Given the description of an element on the screen output the (x, y) to click on. 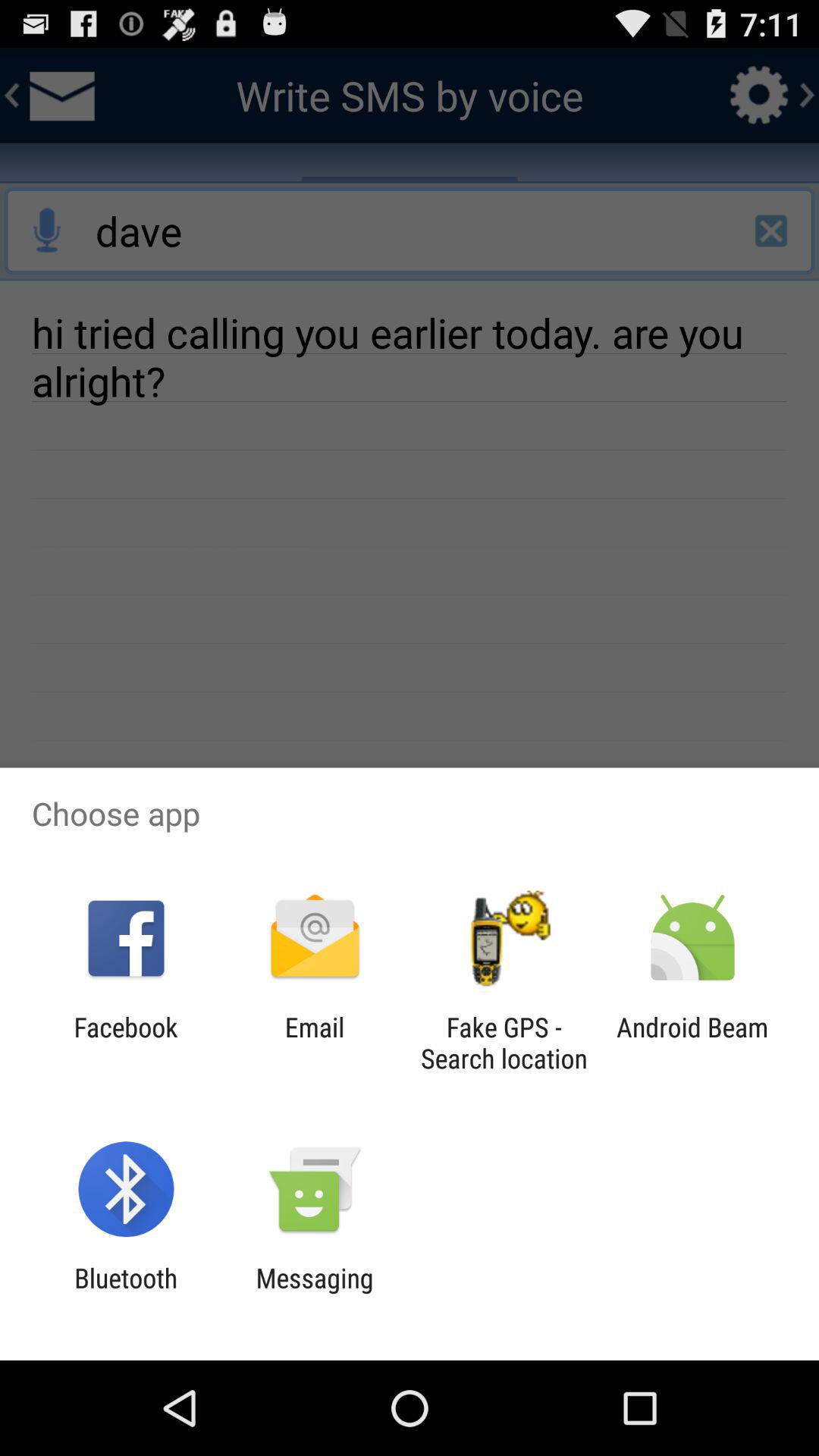
turn off icon to the right of fake gps search app (692, 1042)
